Given the description of an element on the screen output the (x, y) to click on. 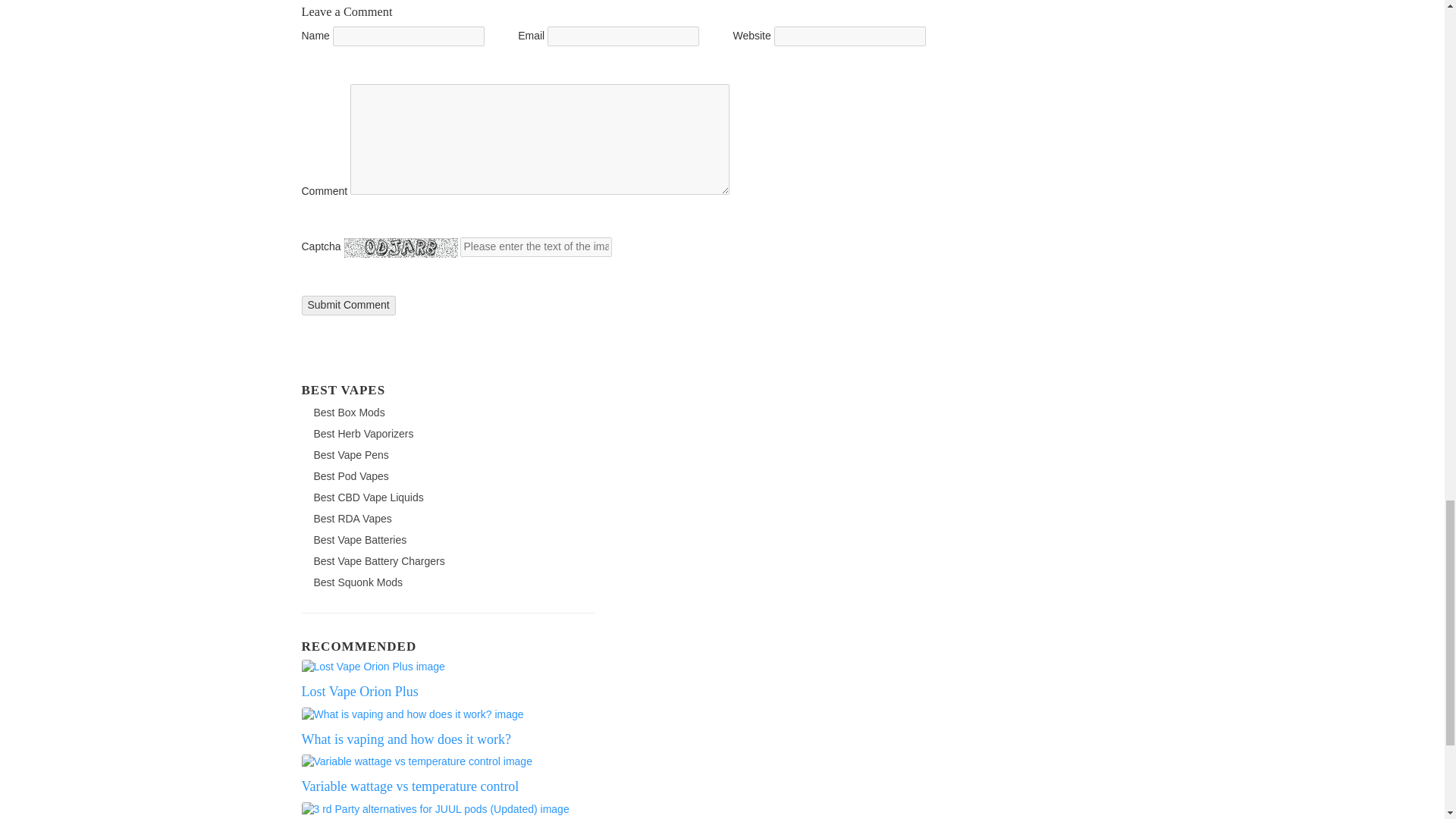
Best Box Mods (345, 412)
Best Herb Vaporizers (360, 434)
Best Vape Pens (347, 455)
Submit Comment (348, 305)
Best CBD Vape Liquids (365, 498)
Best RDA Vapes (349, 519)
Best Pod Vapes (347, 476)
